Given the description of an element on the screen output the (x, y) to click on. 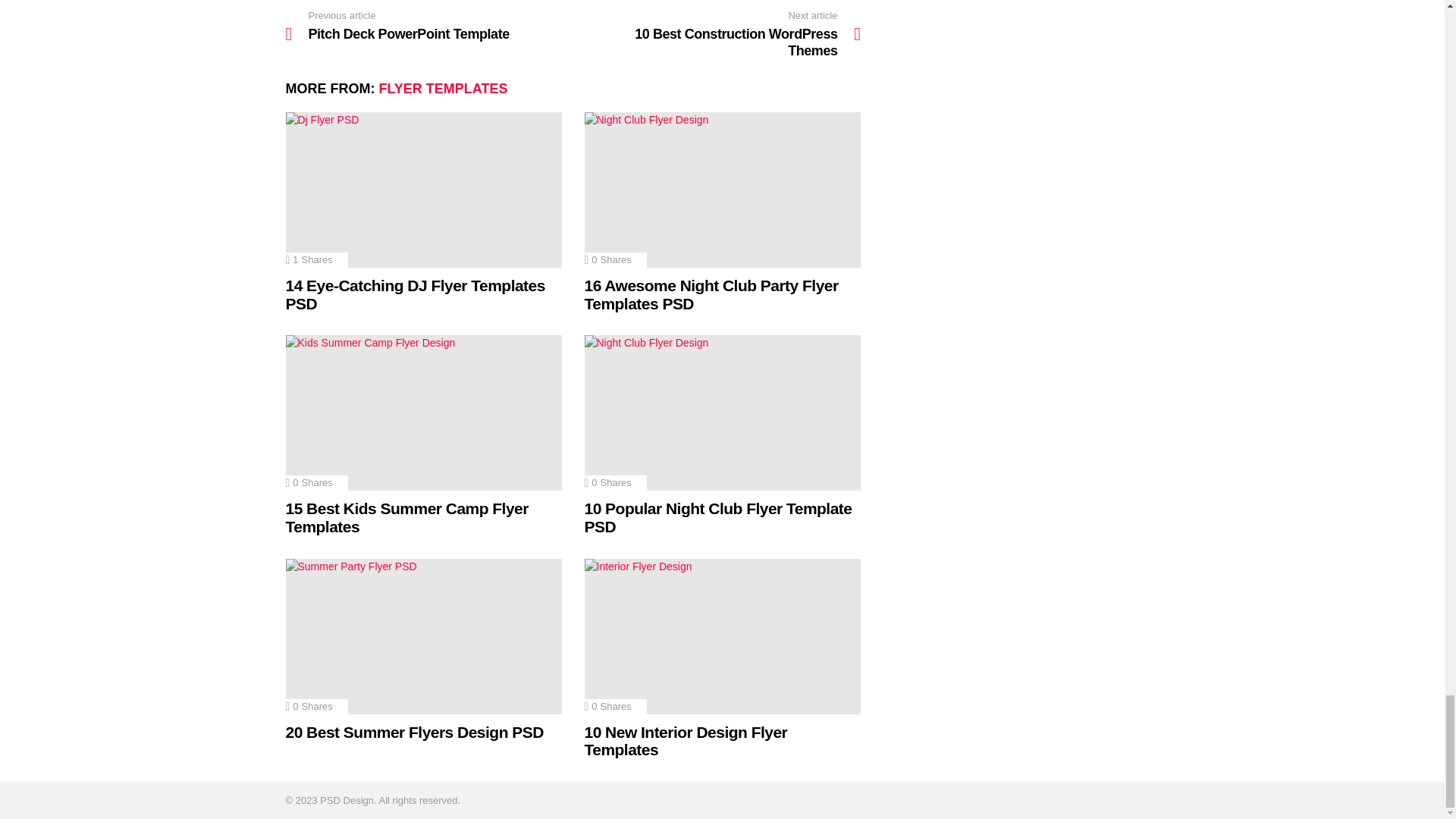
20 Best Summer Flyers Design PSD (422, 636)
16 Awesome Night Club Party Flyer Templates PSD (721, 189)
10 New Interior Design Flyer Templates (721, 636)
10 Popular Night Club Flyer Template PSD (721, 412)
14 Eye-Catching DJ Flyer Templates PSD (422, 189)
15 Best Kids Summer Camp Flyer Templates (422, 412)
